Given the description of an element on the screen output the (x, y) to click on. 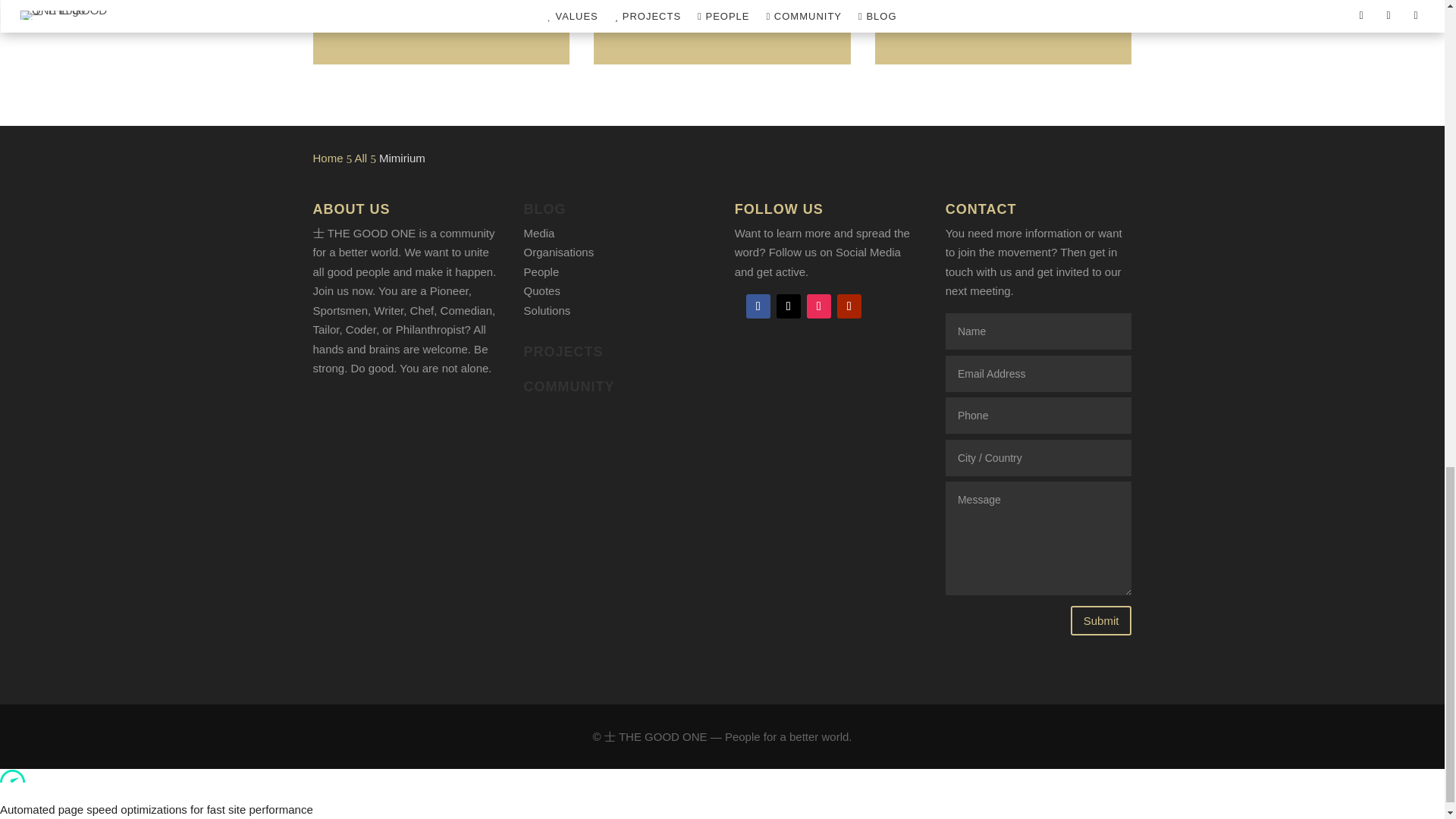
Follow on Instagram (818, 306)
Follow on Youtube (849, 306)
Follow on Facebook (757, 306)
Follow on X (788, 306)
Only numbers allowed.Maximum length: 20 characters. (1037, 415)
Only letters allowed.Maximum length: 50 characters. (1037, 457)
